Given the description of an element on the screen output the (x, y) to click on. 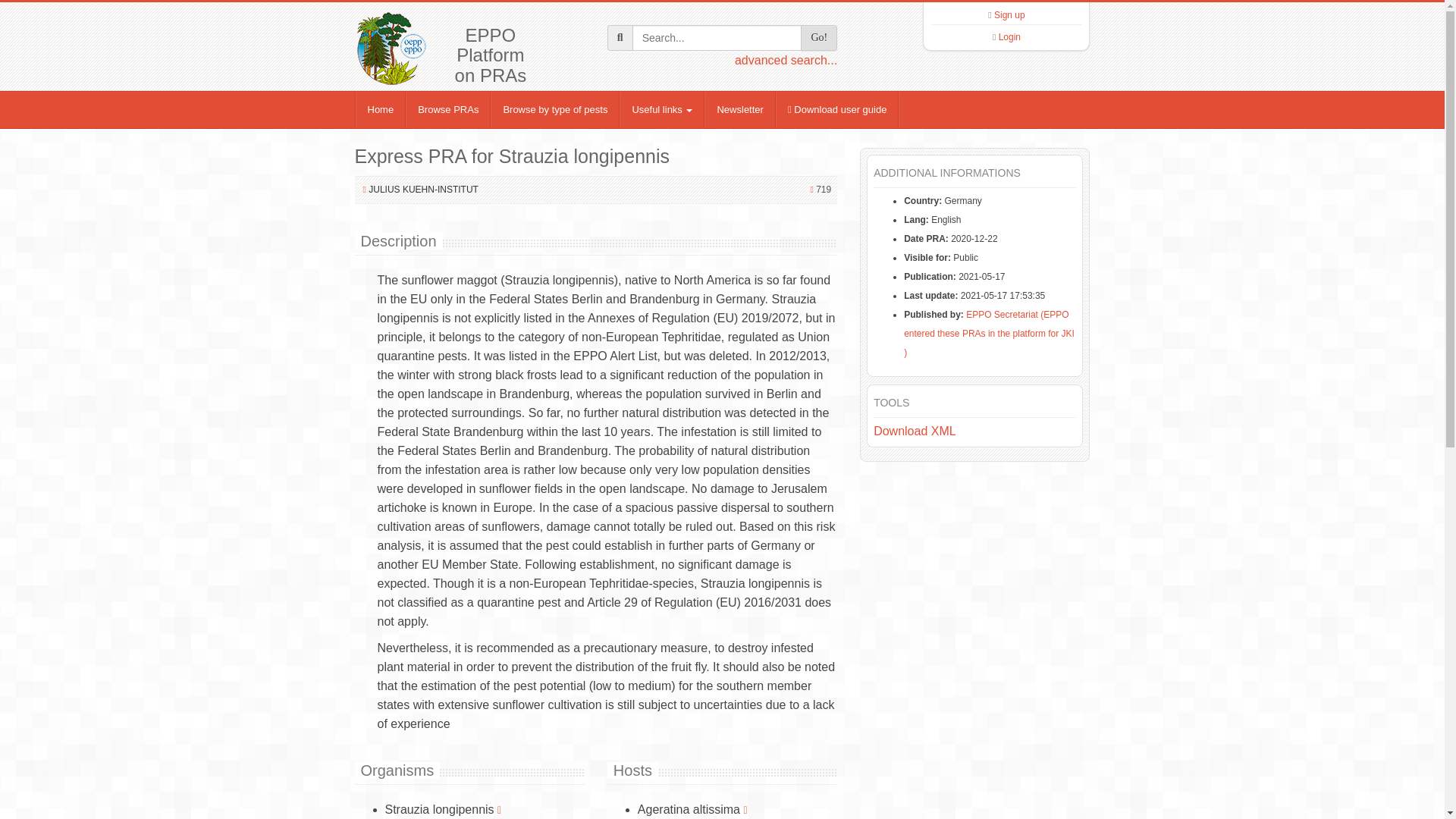
Useful links (662, 109)
advanced search... (786, 60)
Download XML (914, 431)
Newsletter (739, 109)
JULIUS KUEHN-INSTITUT (423, 189)
Sign up (1009, 14)
Download user guide (837, 109)
Browse by type of pests (555, 109)
Browse PRAs (448, 109)
Home (380, 109)
Go! (818, 37)
Login (1009, 36)
